Given the description of an element on the screen output the (x, y) to click on. 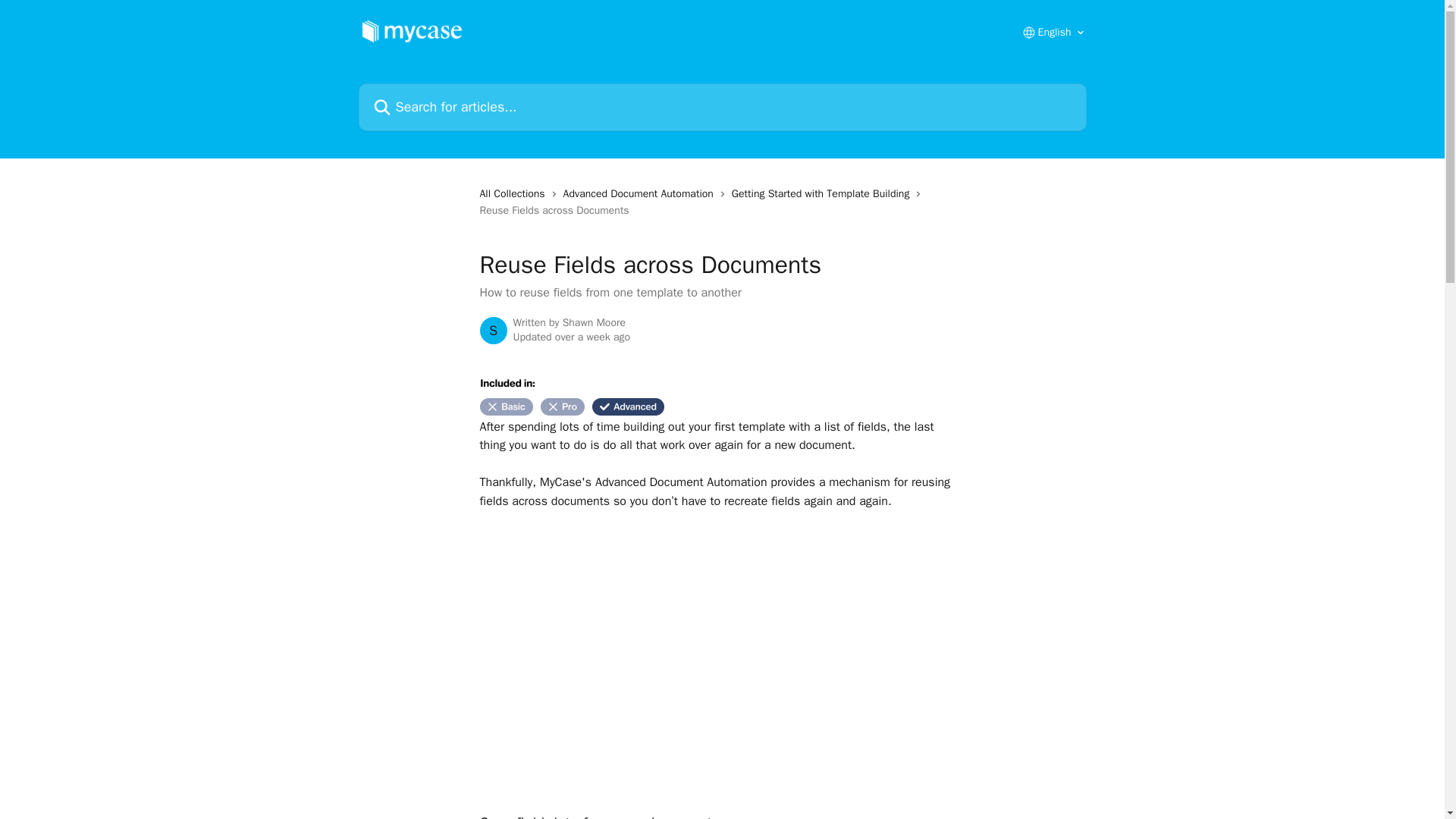
Getting Started with Template Building (823, 193)
Advanced Document Automation (641, 193)
All Collections (514, 193)
